Given the description of an element on the screen output the (x, y) to click on. 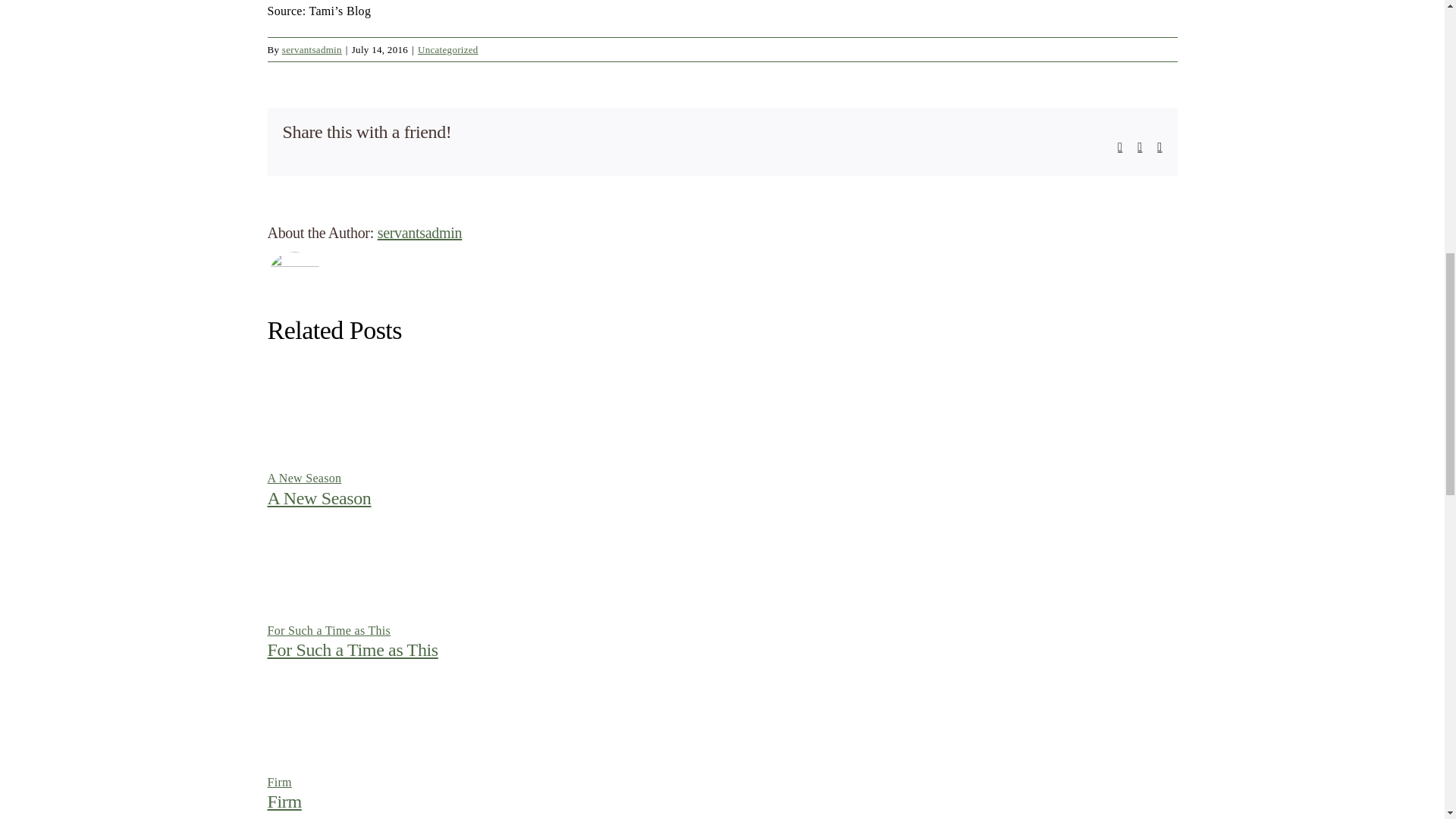
servantsadmin (312, 49)
servantsadmin (420, 232)
A New Season (303, 477)
Uncategorized (448, 49)
Email (1159, 146)
Firm (283, 801)
Firm (278, 781)
A New Season (318, 497)
Facebook (1120, 146)
For Such a Time as This (328, 630)
For Such a Time as This (352, 649)
X (1139, 146)
